Given the description of an element on the screen output the (x, y) to click on. 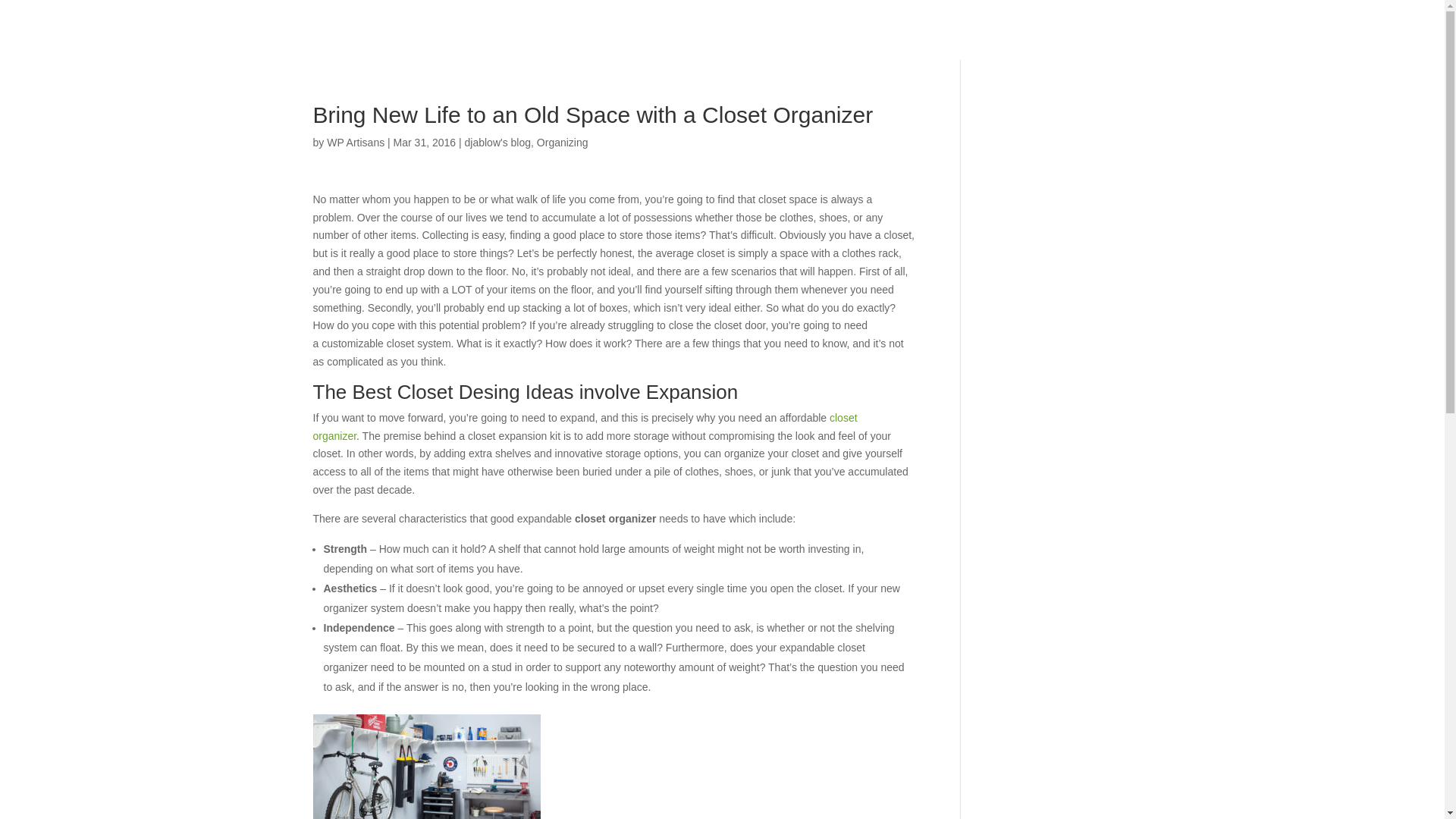
WP Artisans (355, 142)
Posts by WP Artisans (355, 142)
djablow's blog (497, 142)
closet organizer (585, 426)
Organizing (562, 142)
Closet Organizer Ideas (426, 766)
